Given the description of an element on the screen output the (x, y) to click on. 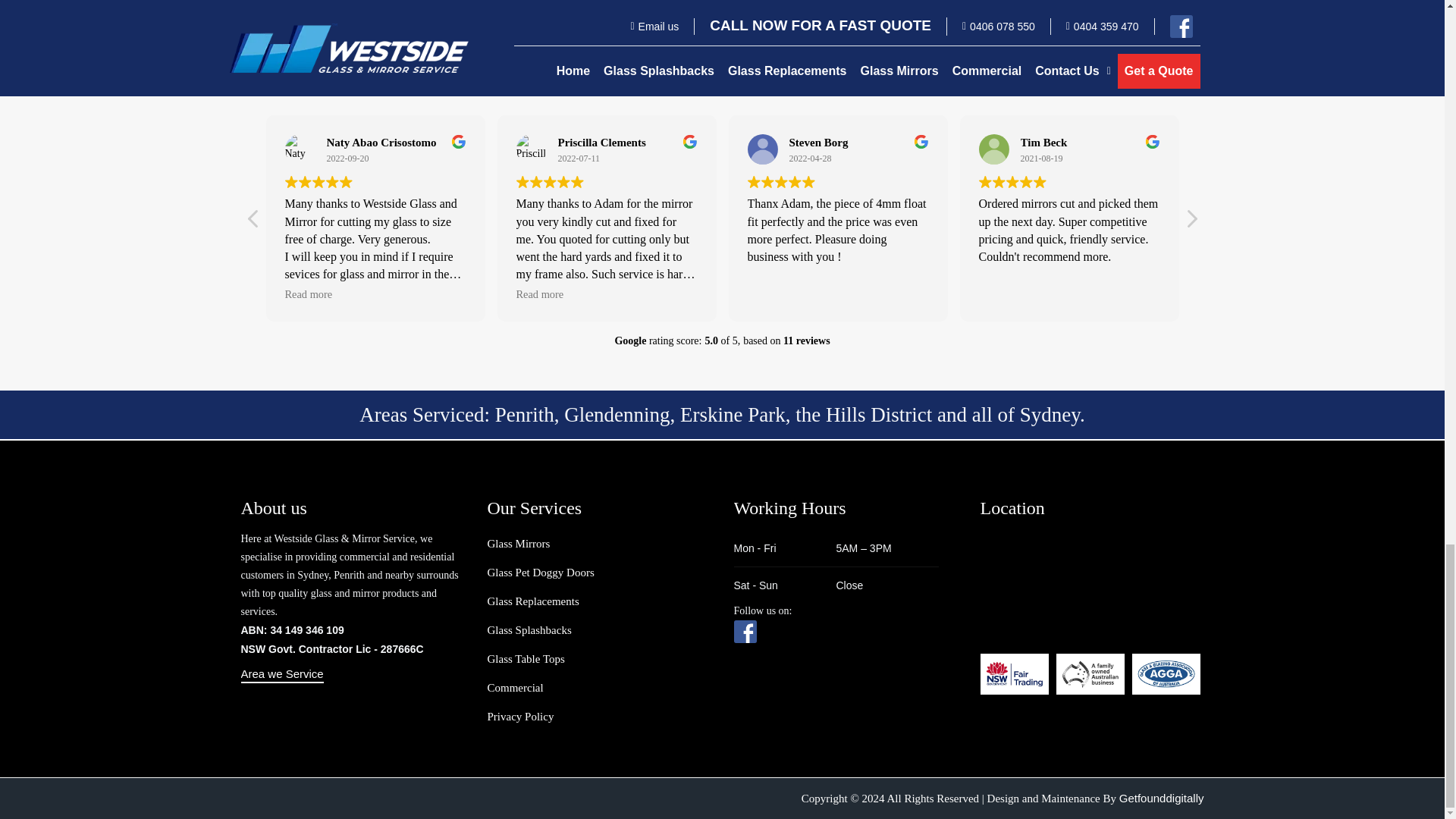
Privacy Policy (519, 717)
Area we Service (282, 674)
Getfounddigitally (1161, 797)
Glass Mirrors (518, 543)
Glass Splashbacks (528, 630)
Commercial (514, 688)
Glass Table Tops (525, 659)
Glass Replacements (532, 602)
Glass Pet Doggy Doors (540, 573)
